Given the description of an element on the screen output the (x, y) to click on. 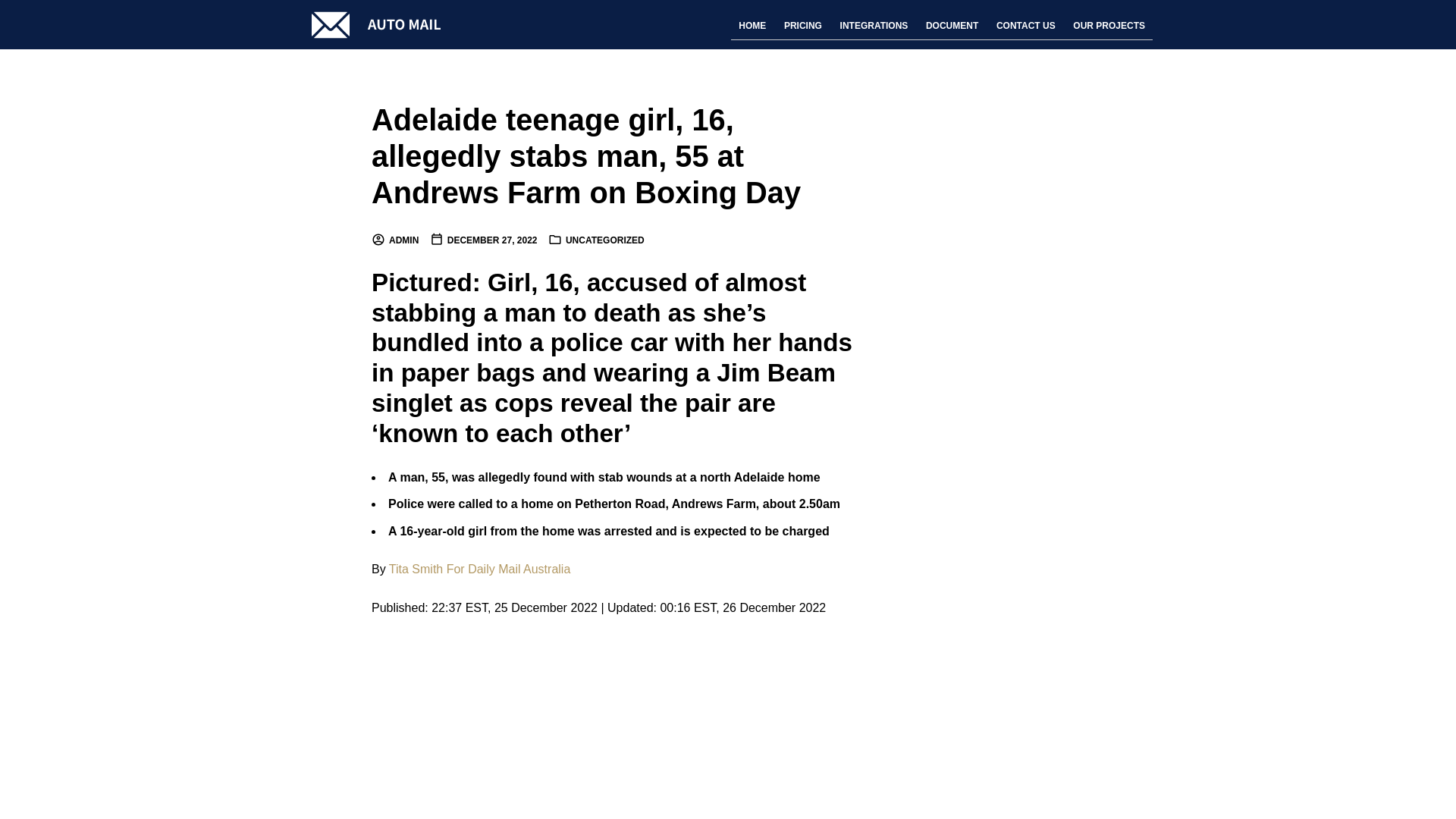
DECEMBER 27, 2022 (483, 240)
ADMIN (395, 240)
DOCUMENT (951, 26)
UNCATEGORIZED (605, 240)
12:47 am (483, 240)
Tita Smith For Daily Mail Australia (479, 568)
INTEGRATIONS (873, 26)
HOME (751, 26)
OUR PROJECTS (1109, 26)
PRICING (802, 26)
View all posts by admin (395, 240)
CONTACT US (1025, 26)
